Given the description of an element on the screen output the (x, y) to click on. 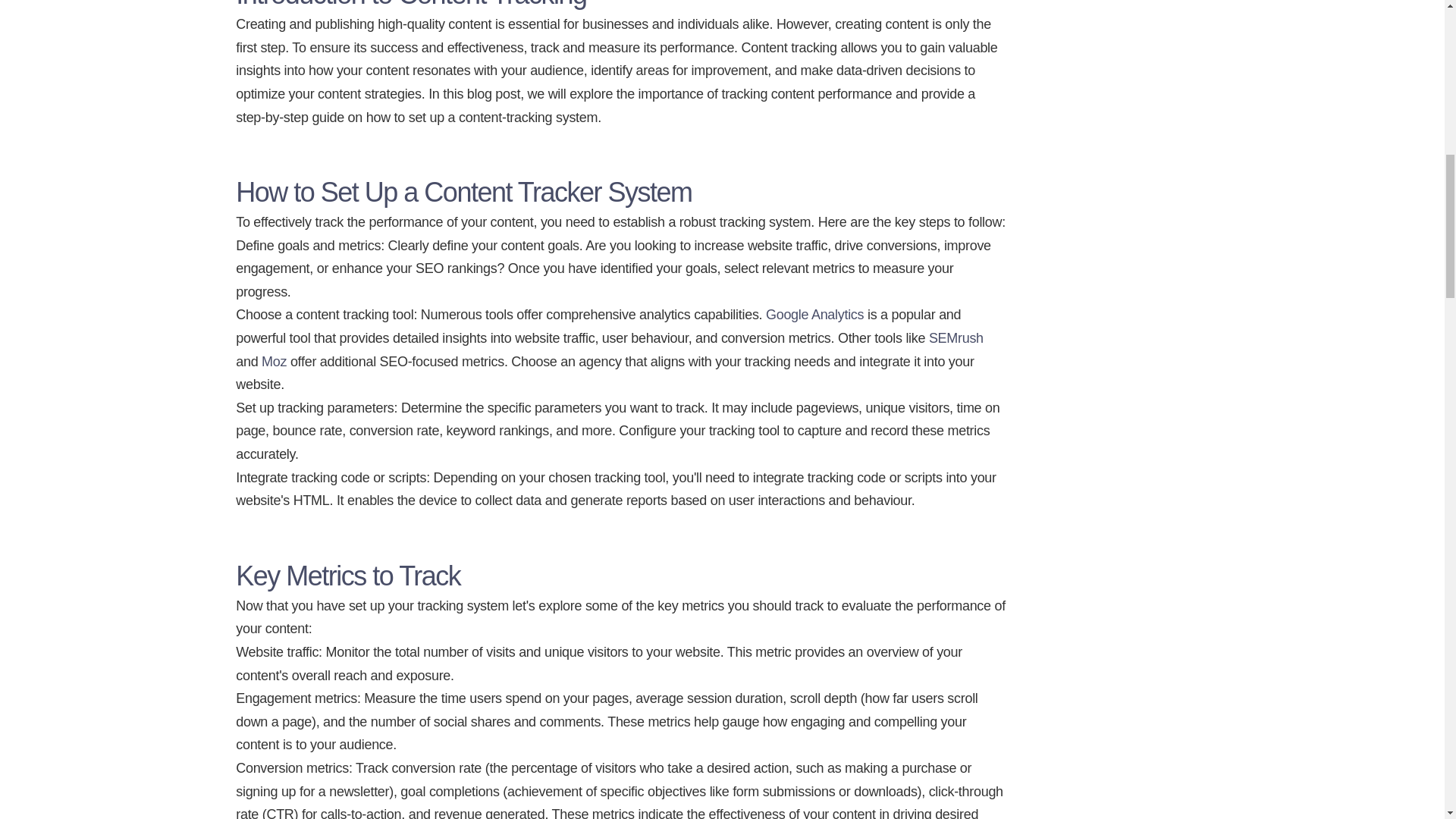
Google Analytics (814, 314)
Moz (274, 361)
SEMrush (956, 337)
